Given the description of an element on the screen output the (x, y) to click on. 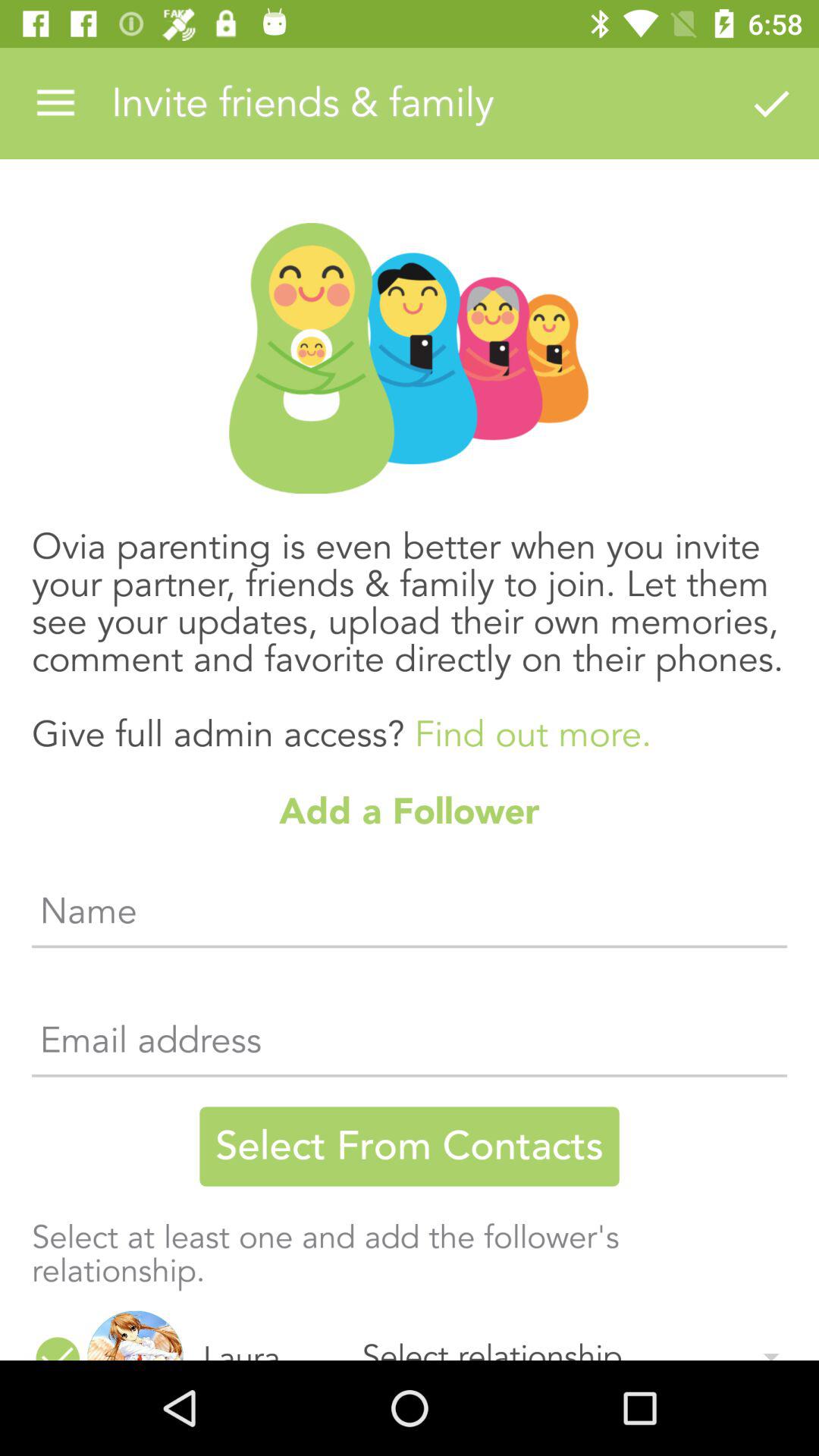
launch item below the select at least icon (270, 1333)
